Given the description of an element on the screen output the (x, y) to click on. 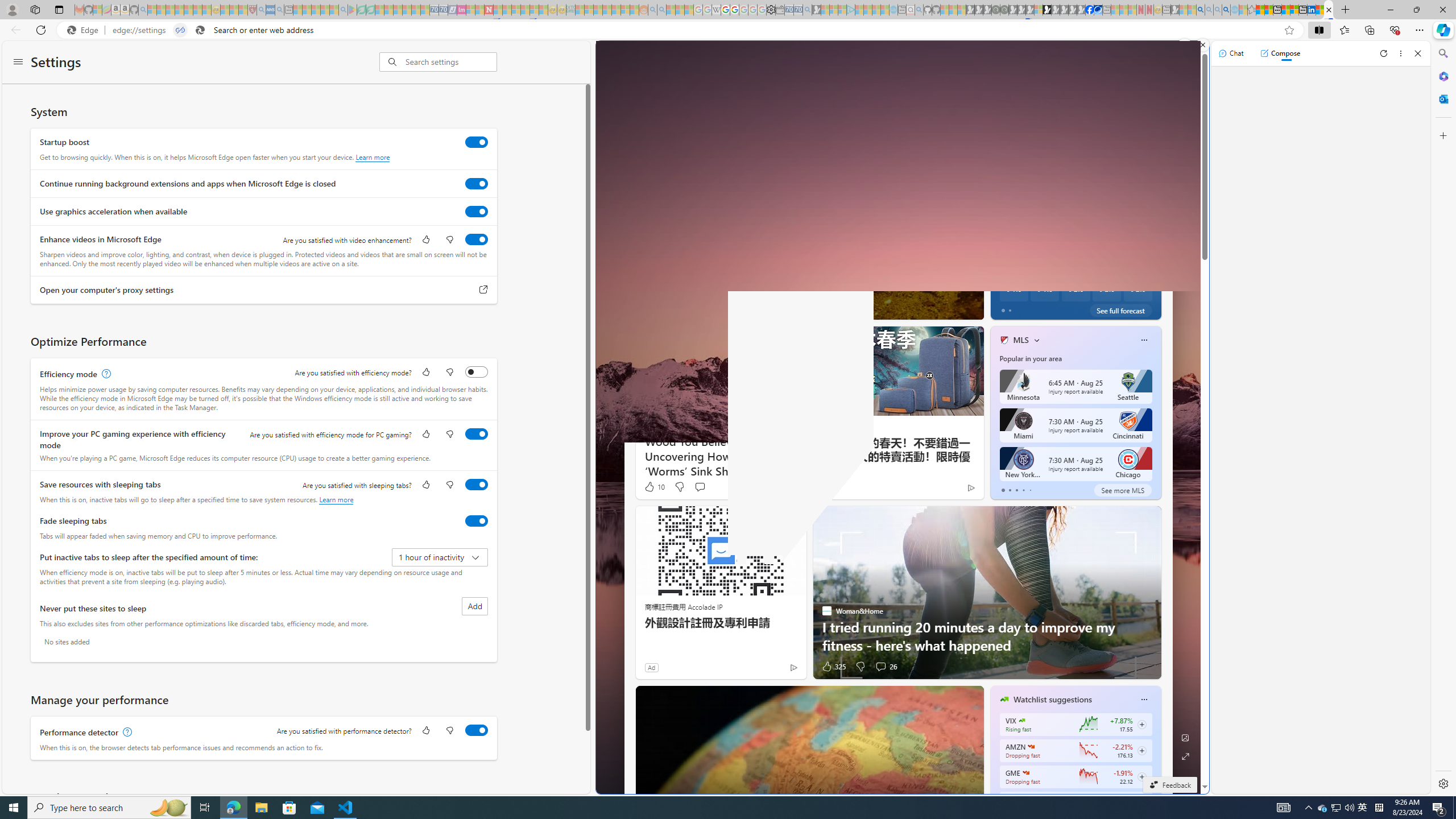
Tabs in split screen (180, 29)
Save resources with sleeping tabs (476, 484)
View comments 10 Comment (1059, 307)
Forge of Empires (1020, 269)
Google Chrome Internet Browser Download - Search Images (1225, 9)
